Given the description of an element on the screen output the (x, y) to click on. 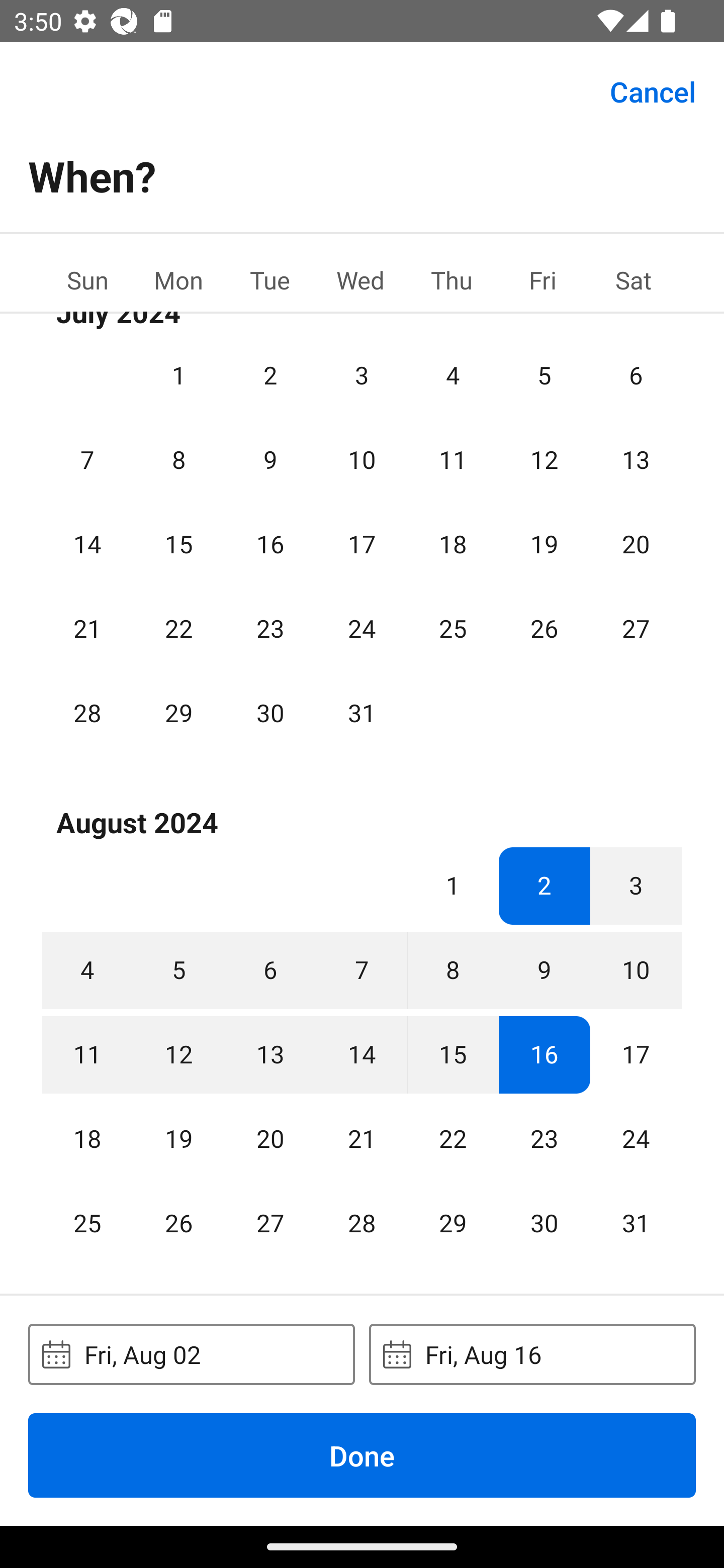
Cancel (652, 90)
Fri, Aug 02 (191, 1353)
Fri, Aug 16 (532, 1353)
Done (361, 1454)
